Given the description of an element on the screen output the (x, y) to click on. 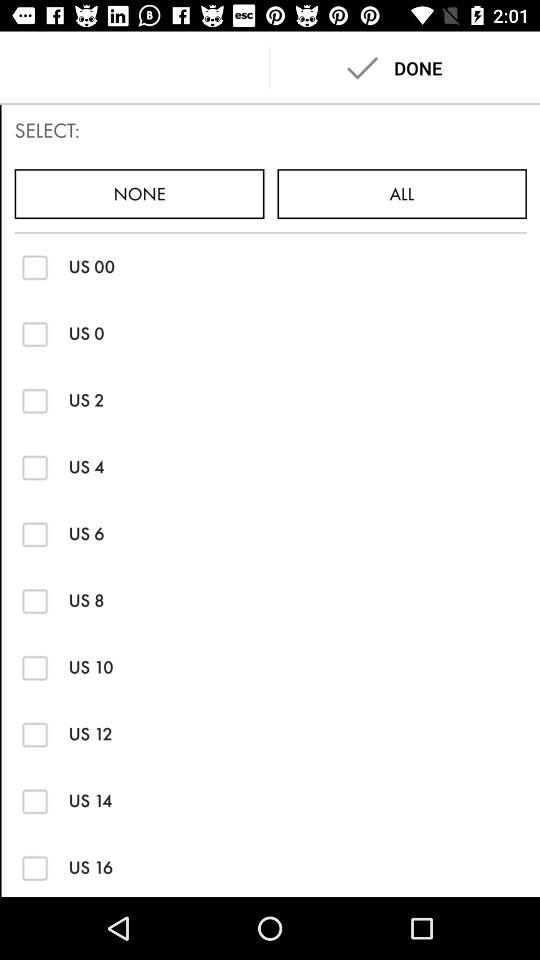
tick the column (34, 333)
